Given the description of an element on the screen output the (x, y) to click on. 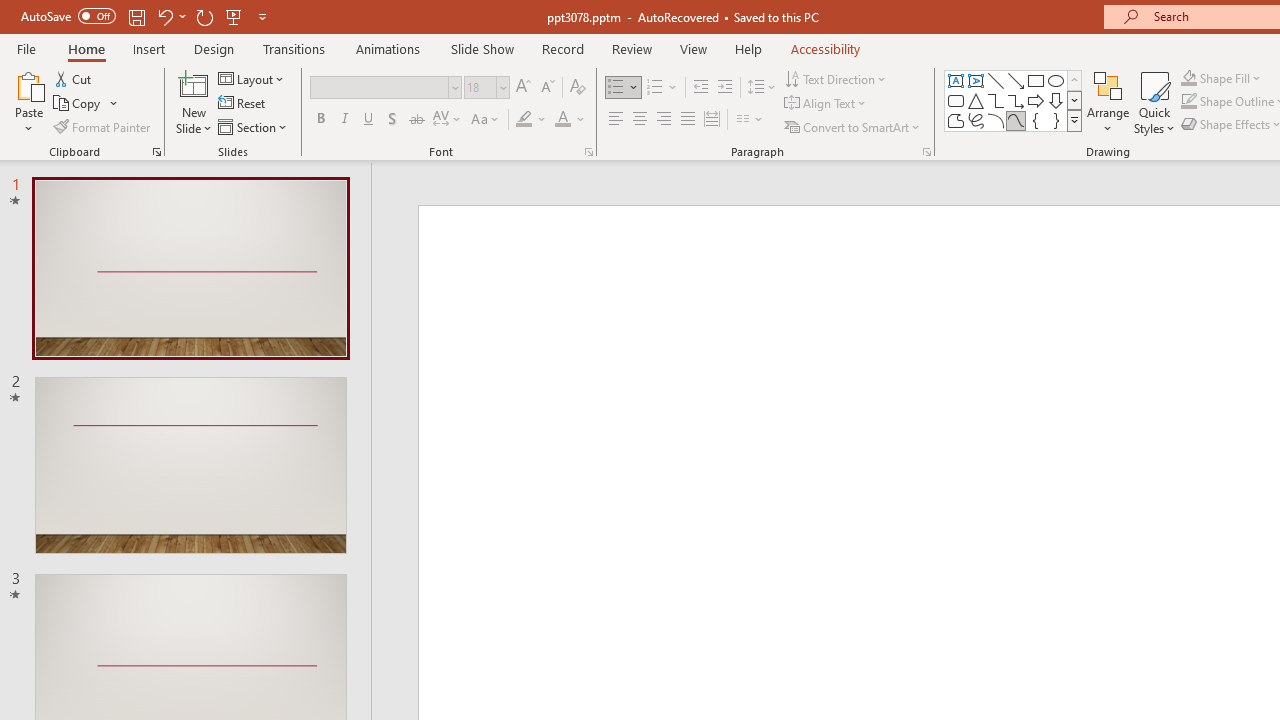
Text Box (955, 80)
Rectangle: Rounded Corners (955, 100)
Clear Formatting (577, 87)
Cut (73, 78)
Quick Styles (1154, 102)
Text Direction (836, 78)
Shape Outline Green, Accent 1 (1188, 101)
Font Color Red (562, 119)
Justify (687, 119)
Arc (995, 120)
